Given the description of an element on the screen output the (x, y) to click on. 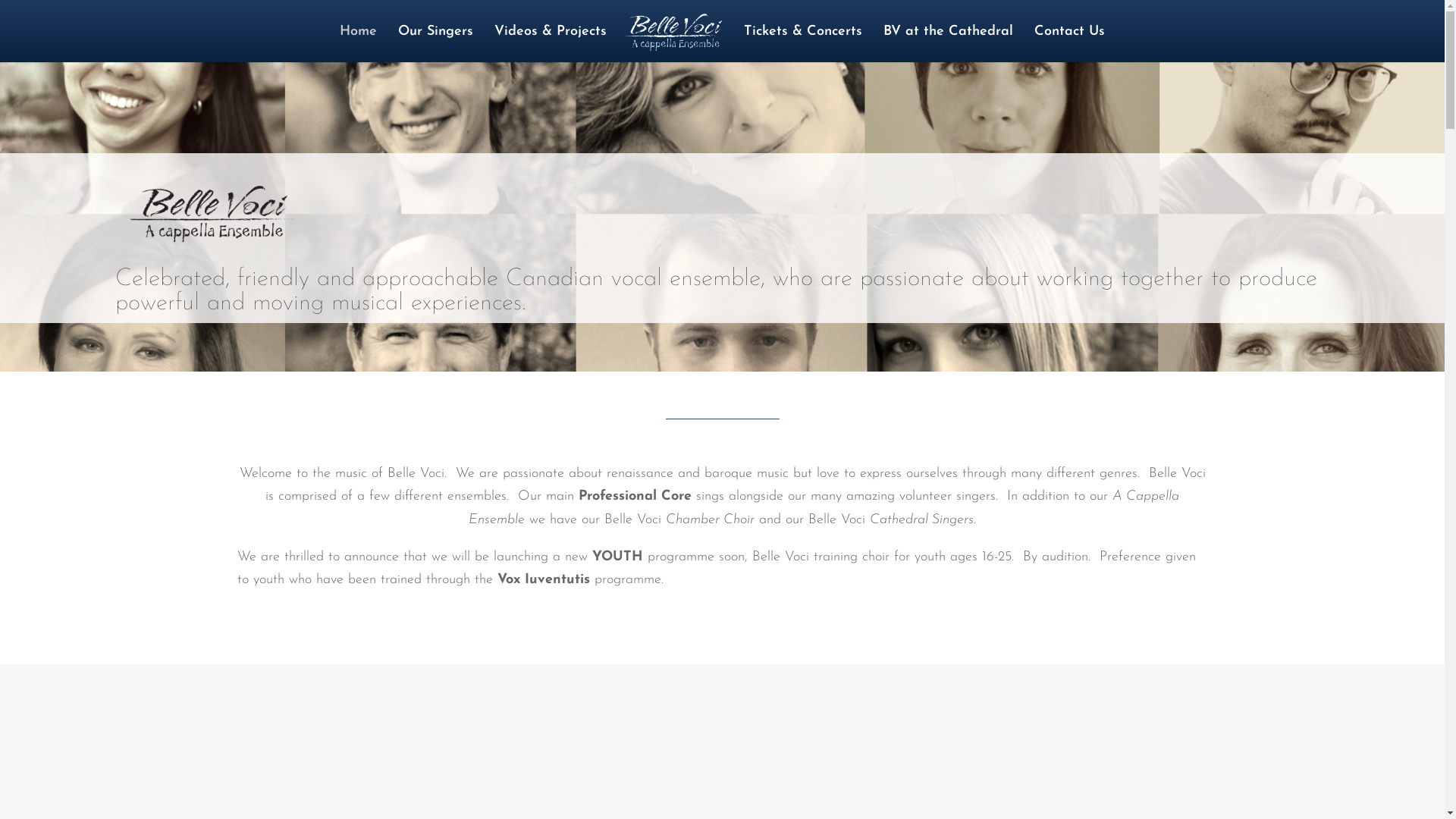
Tickets & Concerts Element type: text (802, 44)
Home Element type: text (357, 44)
Contact Us Element type: text (1069, 44)
Our Singers Element type: text (435, 44)
BV at the Cathedral Element type: text (948, 44)
Videos & Projects Element type: text (550, 44)
